Given the description of an element on the screen output the (x, y) to click on. 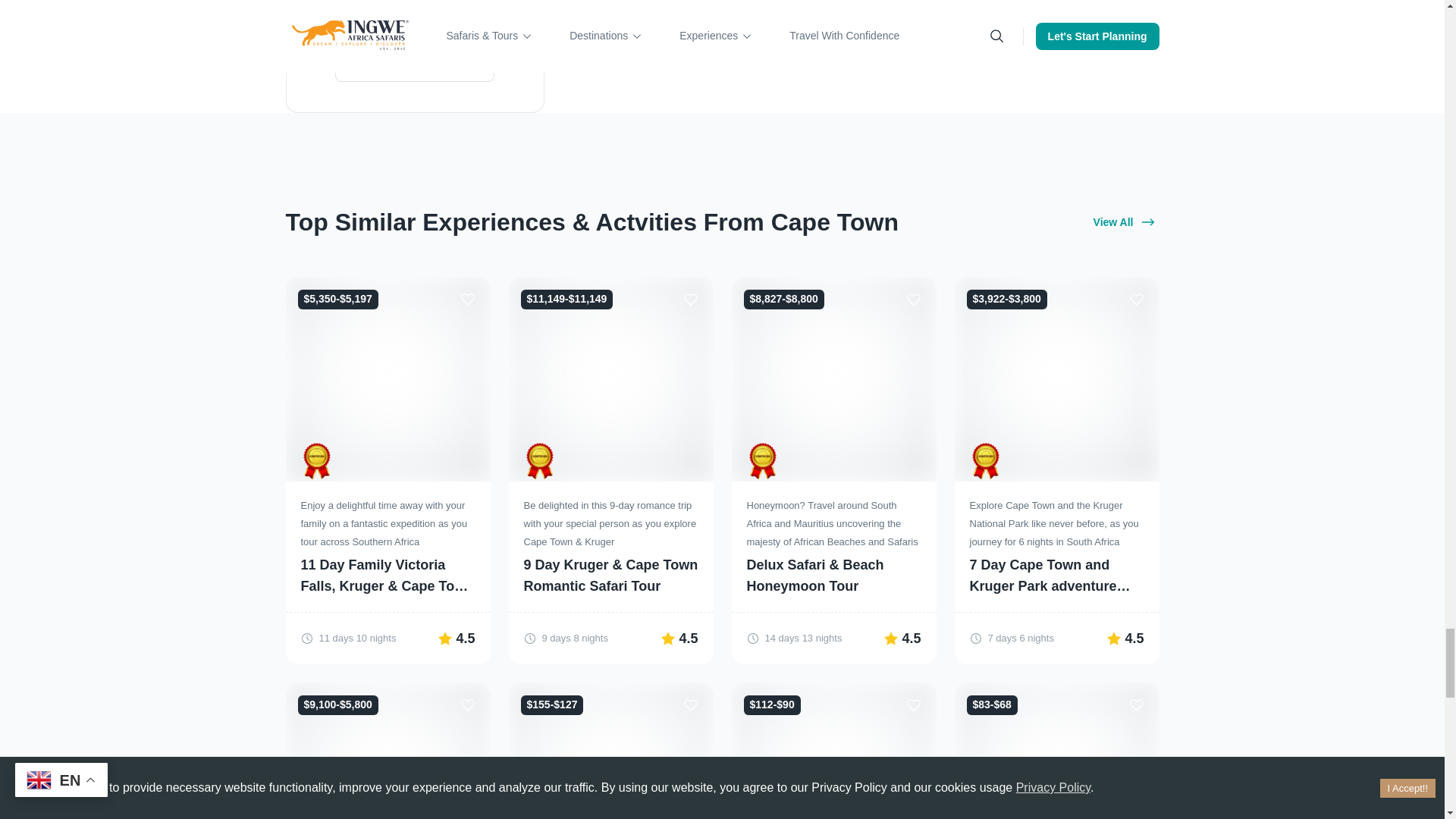
7 Day Cape Town and Kruger Park adventure tour (1055, 575)
View All (1122, 221)
Contact Tour Specialist (414, 63)
